Given the description of an element on the screen output the (x, y) to click on. 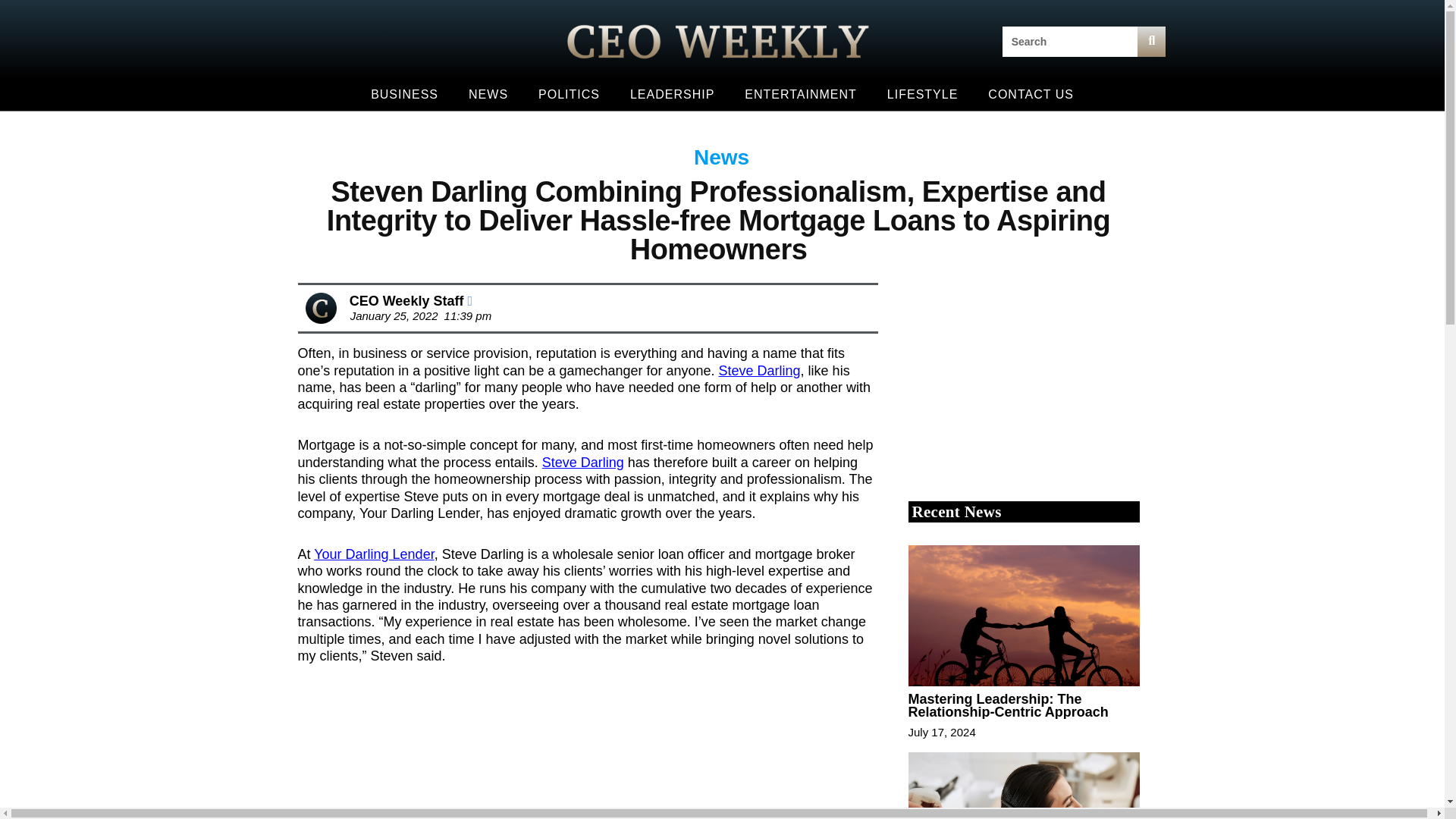
LEADERSHIP (672, 94)
January 25, 2022 (390, 315)
News (721, 156)
Steve Darling (759, 370)
Mastering Leadership: The Relationship-Centric Approach (1008, 705)
POLITICS (568, 94)
CEO Weekly Staff (410, 300)
CONTACT US (1030, 94)
LIFESTYLE (921, 94)
BUSINESS (403, 94)
Your Darling Lender (373, 554)
Search (1070, 41)
ENTERTAINMENT (800, 94)
Steve Darling (582, 462)
NEWS (488, 94)
